Given the description of an element on the screen output the (x, y) to click on. 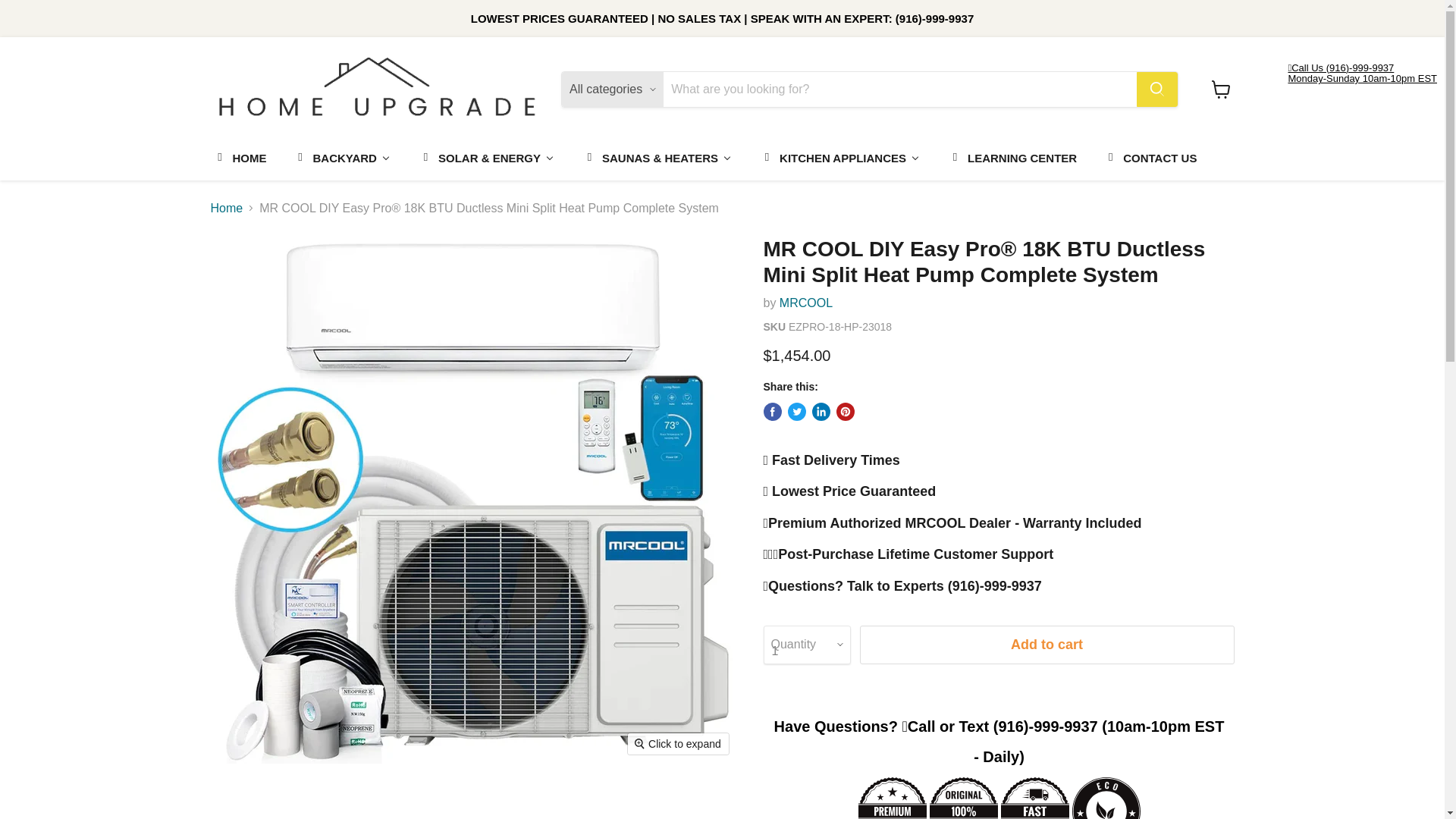
BACKYARD (341, 156)
View cart (1221, 89)
HOME (238, 156)
